Given the description of an element on the screen output the (x, y) to click on. 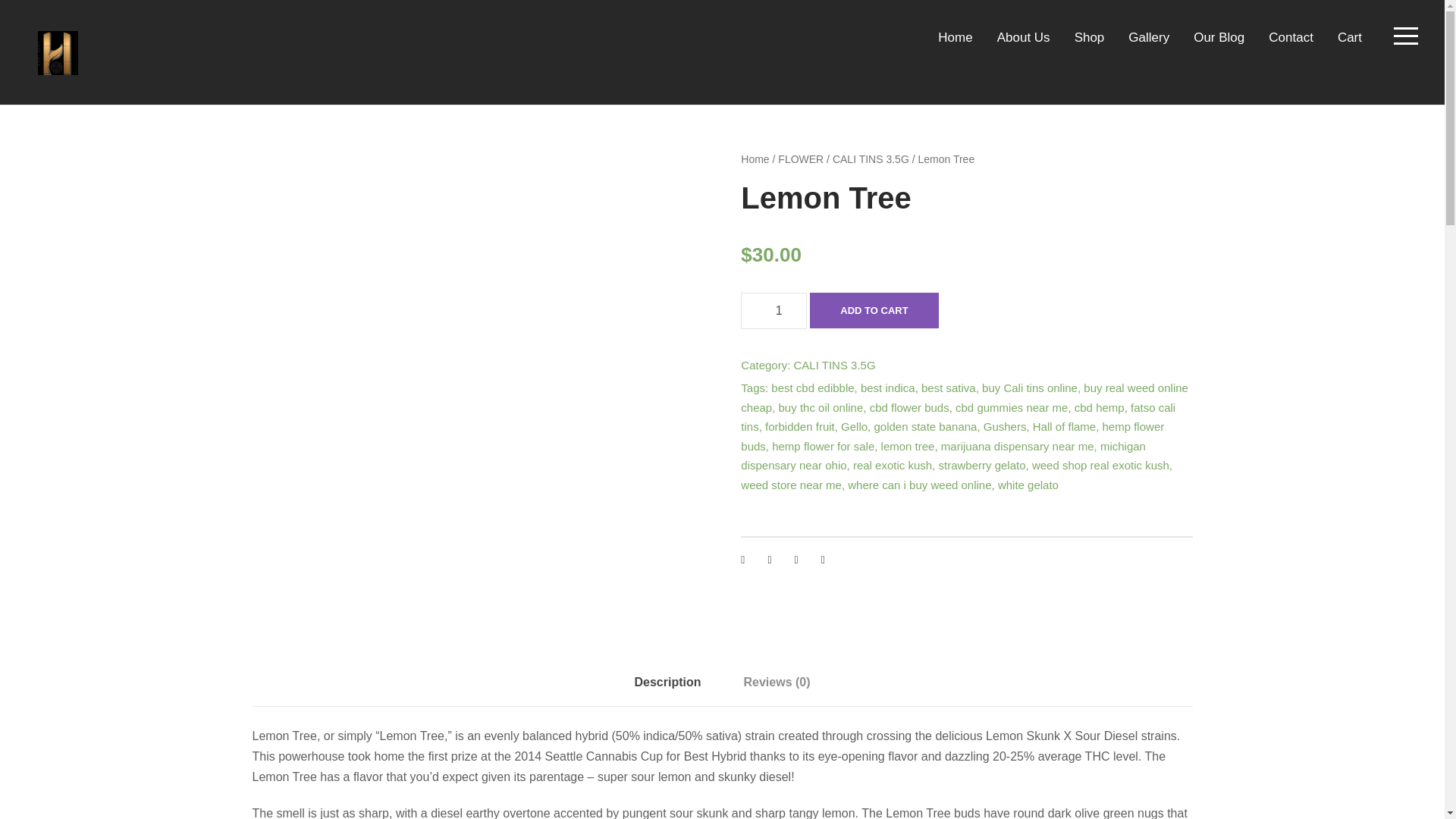
cbd gummies near me (1011, 407)
Contact (1290, 45)
cbd flower buds (909, 407)
Home (954, 45)
CALI TINS 3.5G (834, 364)
buy real weed online cheap (964, 397)
best sativa (948, 387)
Gallery (1148, 45)
FLOWER (800, 159)
ADD TO CART (873, 310)
